Given the description of an element on the screen output the (x, y) to click on. 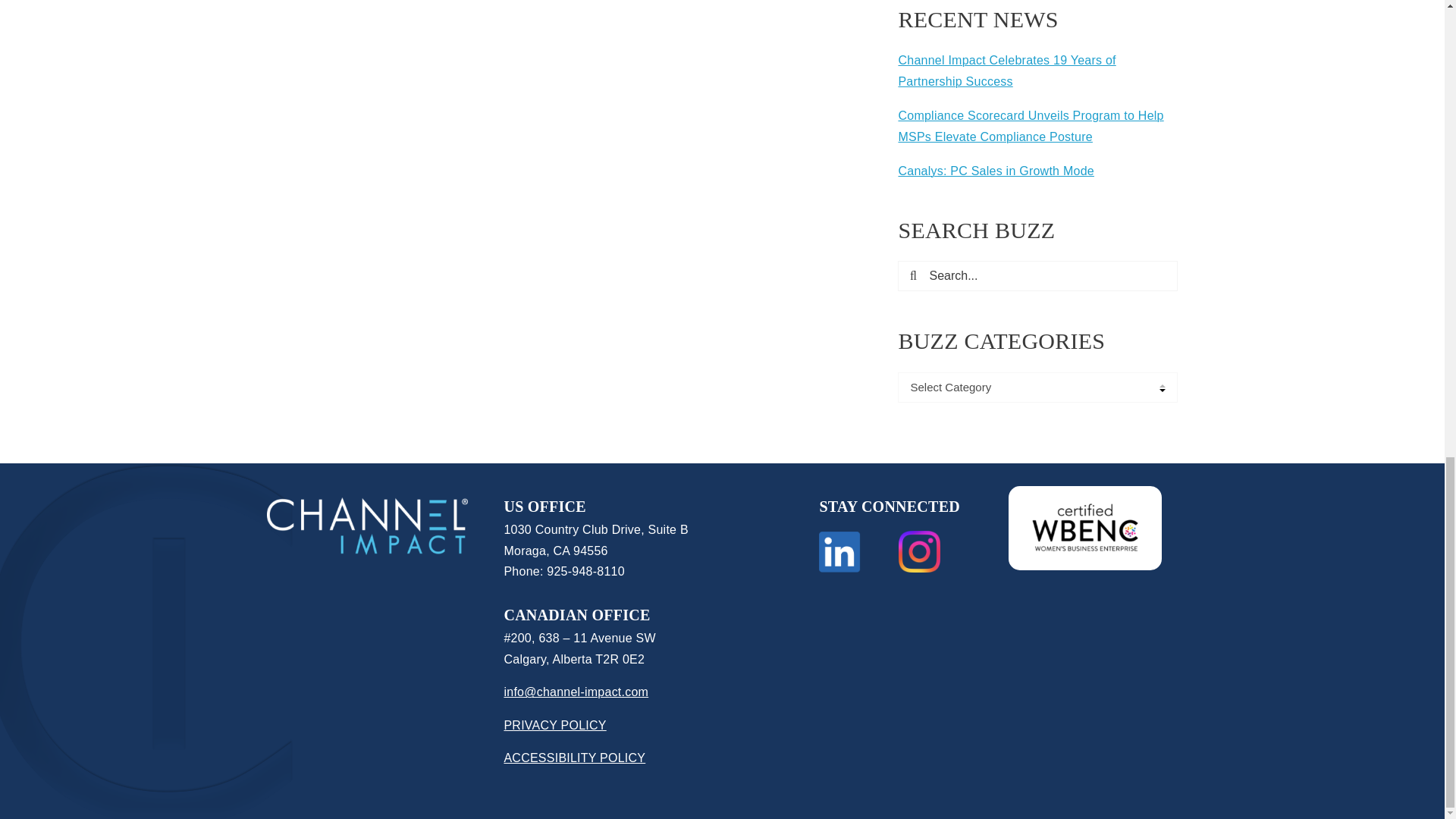
ACCESSIBILITY POLICY (574, 757)
Channel Impact Celebrates 19 Years of Partnership Success (1006, 70)
PRIVACY POLICY (554, 725)
Canalys: PC Sales in Growth Mode (995, 170)
wbenc-logo (1084, 528)
